Given the description of an element on the screen output the (x, y) to click on. 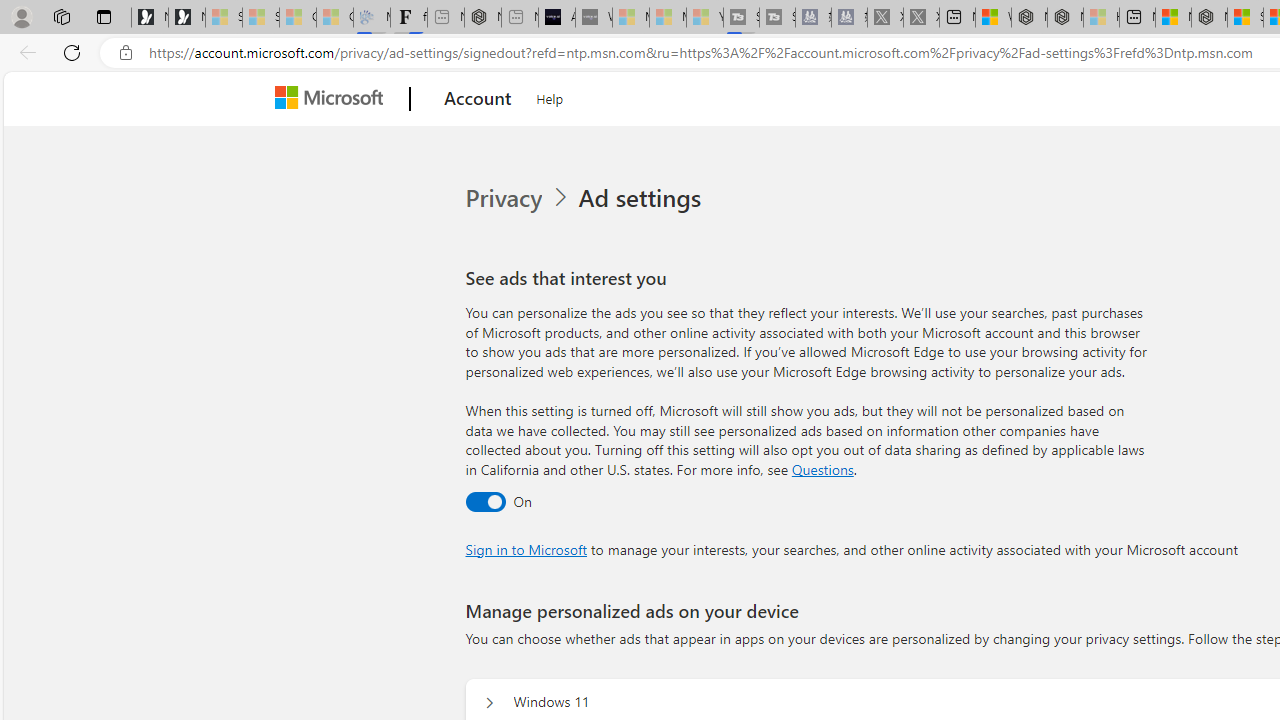
Account (477, 99)
Help (550, 96)
Microsoft Start - Sleeping (668, 17)
AI Voice Changer for PC and Mac - Voice.ai (556, 17)
Sign in to Microsoft (525, 548)
Microsoft (332, 99)
